Given the description of an element on the screen output the (x, y) to click on. 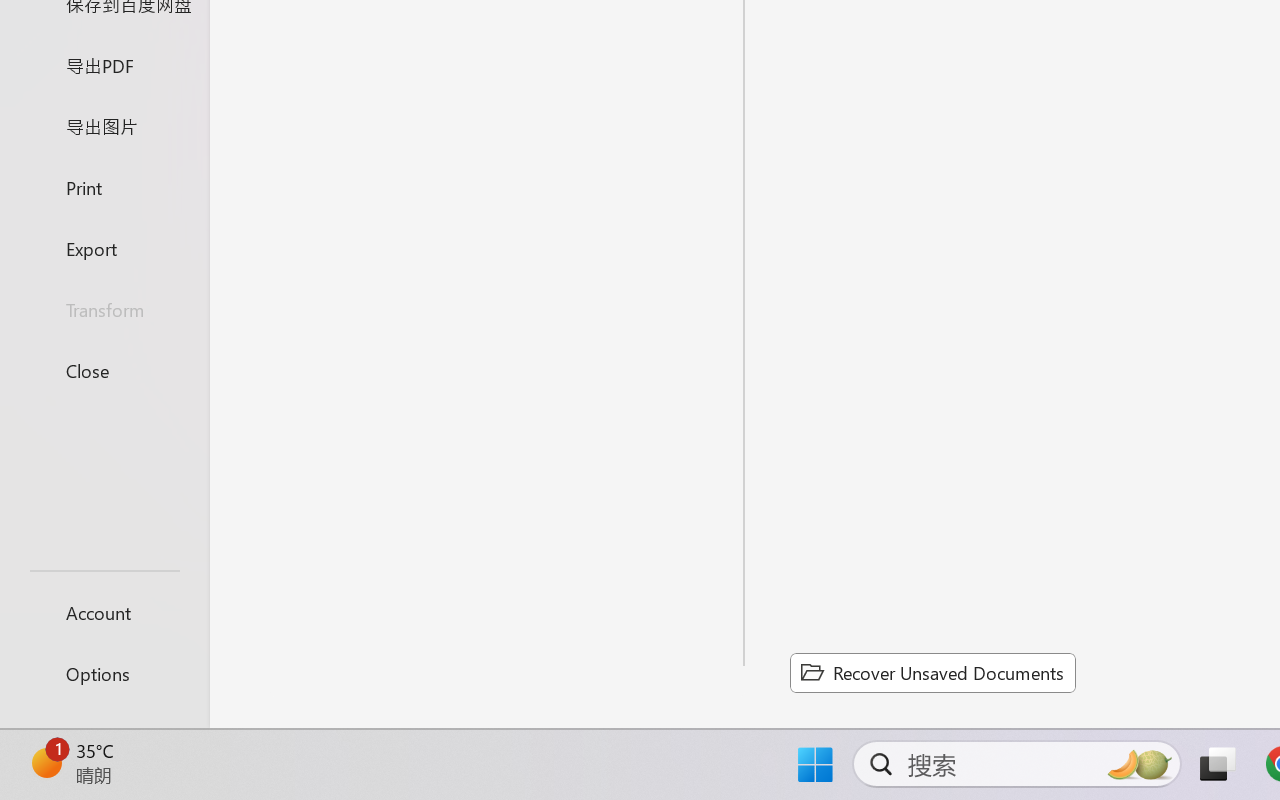
Transform (104, 309)
Export (104, 248)
Print (104, 186)
Options (104, 673)
Account (104, 612)
Recover Unsaved Documents (932, 672)
